Given the description of an element on the screen output the (x, y) to click on. 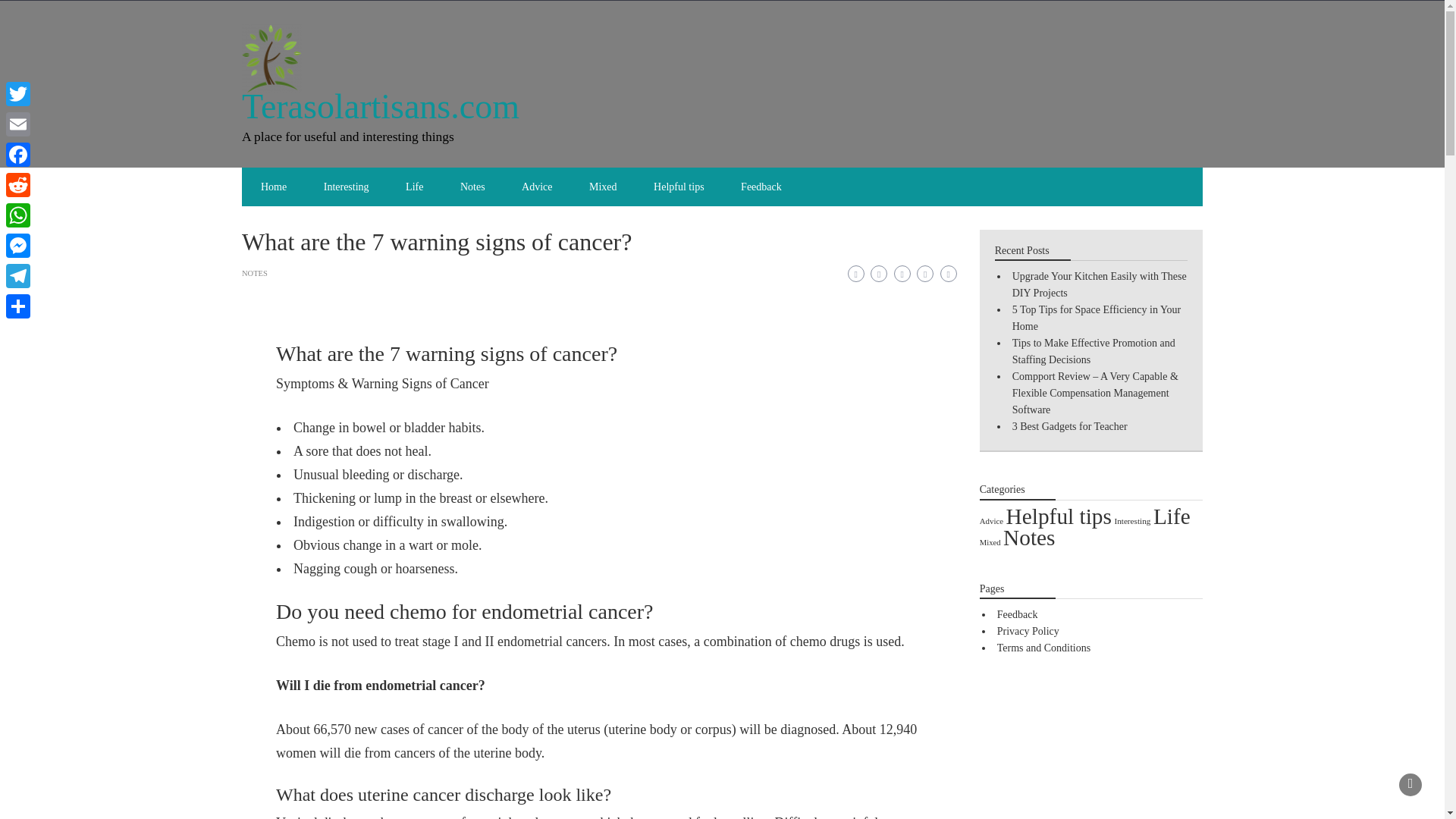
Interesting (1131, 520)
Advice (991, 520)
NOTES (254, 273)
5 Top Tips for Space Efficiency in Your Home (1095, 317)
Messenger (17, 245)
Upgrade Your Kitchen Easily with These DIY Projects (1098, 284)
WhatsApp (17, 214)
Tips to Make Effective Promotion and Staffing Decisions (1092, 351)
Email (17, 123)
Reddit (17, 184)
Life (414, 186)
Terasolartisans.com (380, 106)
Feedback (760, 186)
Helpful tips (1059, 516)
Home (273, 186)
